Given the description of an element on the screen output the (x, y) to click on. 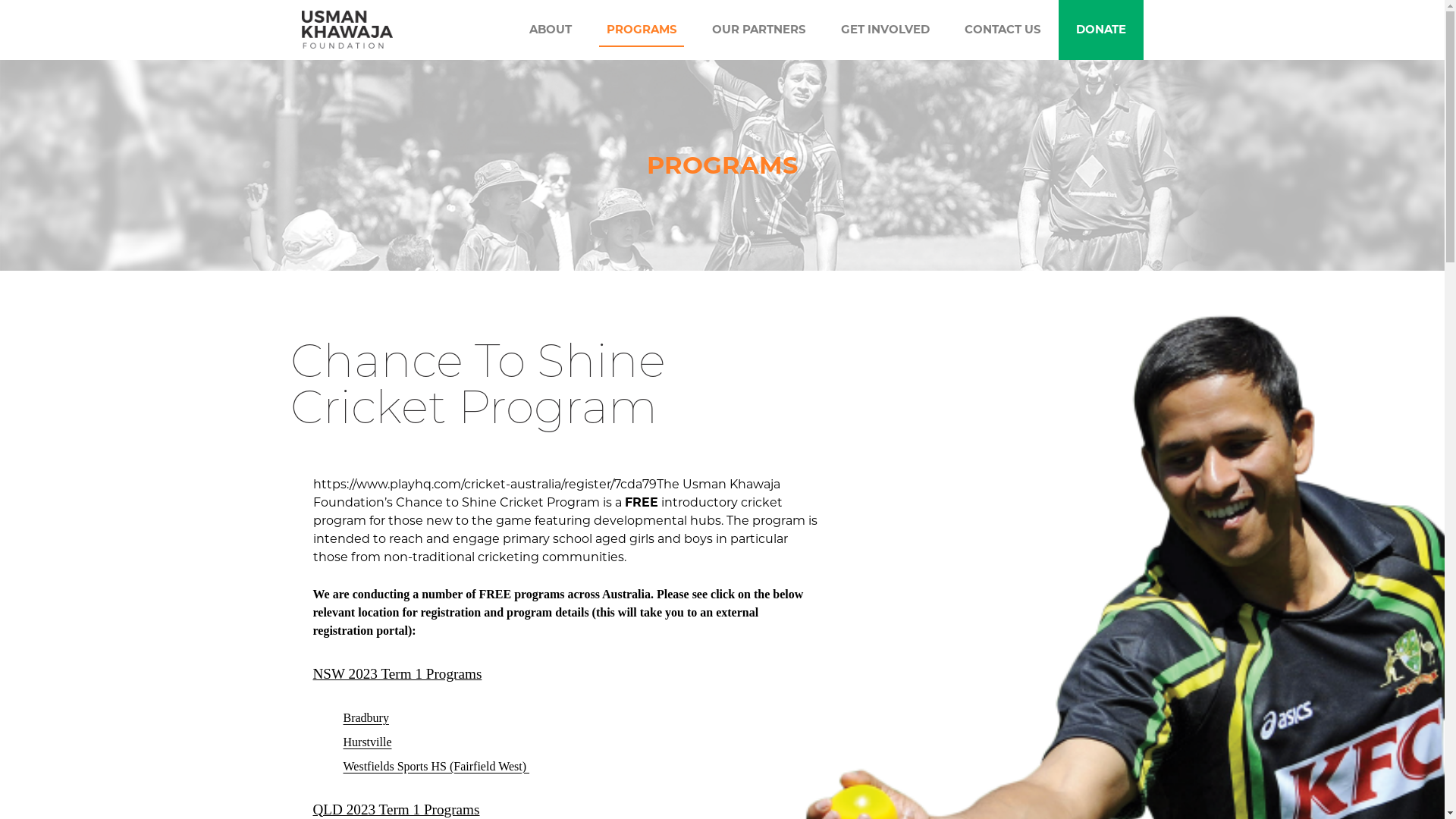
Bradbury Element type: text (365, 717)
ABOUT Element type: text (550, 29)
GET INVOLVED Element type: text (884, 29)
Westfields Sports HS (Fairfield West)  Element type: text (435, 765)
DONATE Element type: text (1100, 29)
OUR PARTNERS Element type: text (758, 29)
https://www.playhq.com/cricket-australia/register/7cda79 Element type: text (483, 483)
PROGRAMS Element type: text (641, 29)
CONTACT US Element type: text (1002, 29)
